Given the description of an element on the screen output the (x, y) to click on. 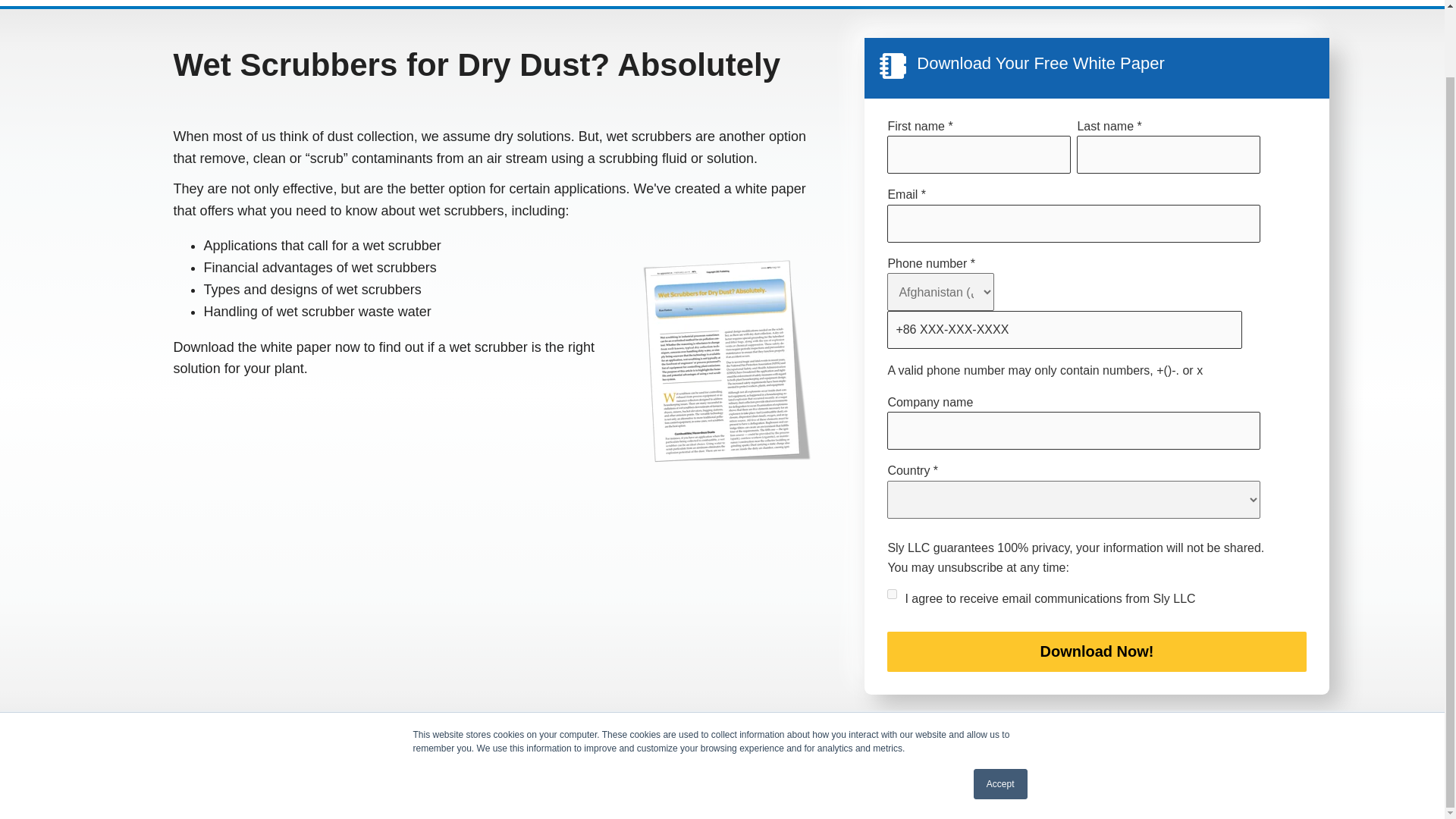
true (891, 593)
agenda-xxl (892, 65)
Download Now! (1096, 651)
Accept (1000, 710)
Download Now! (1096, 651)
